Given the description of an element on the screen output the (x, y) to click on. 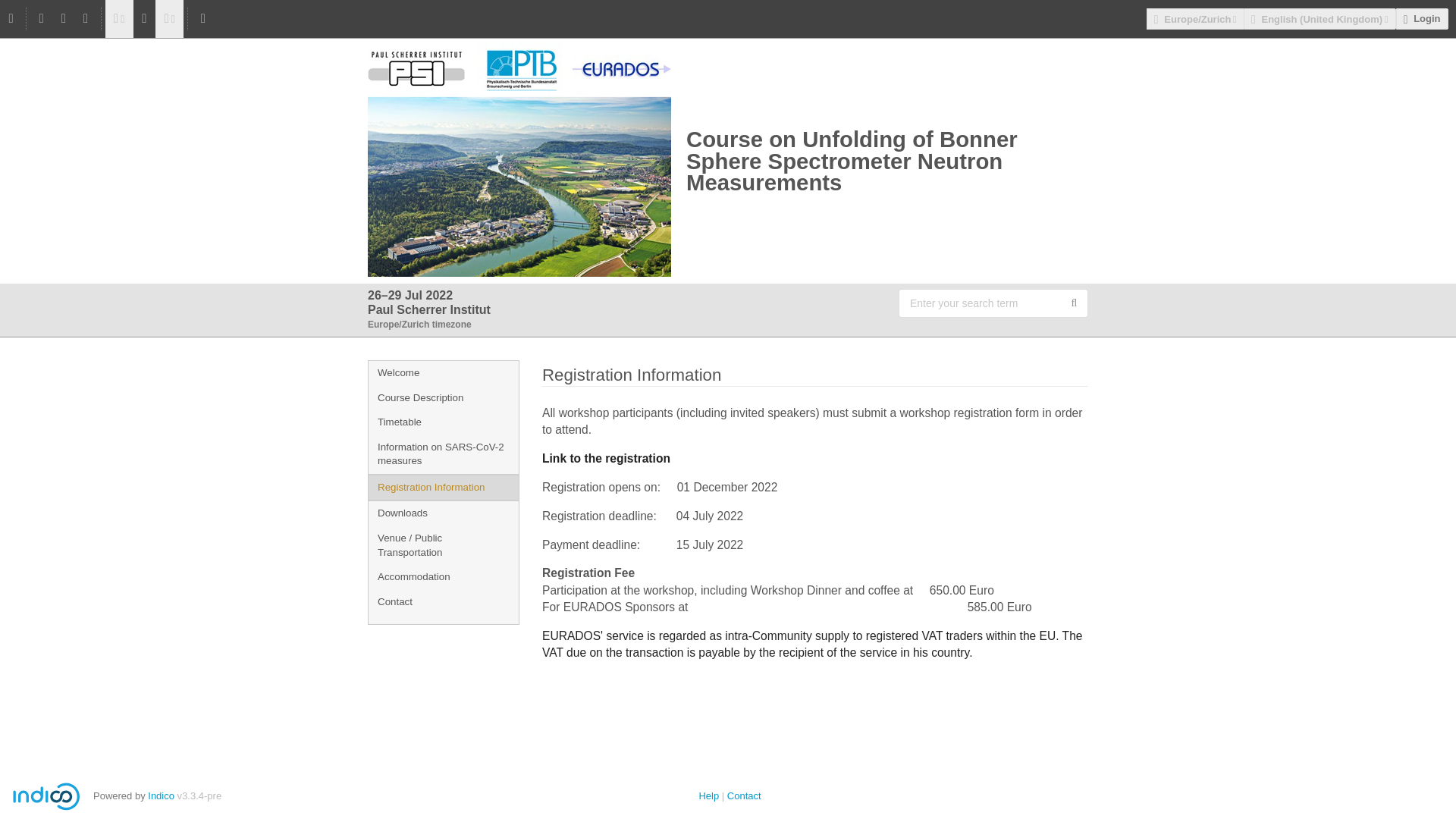
Downloads (443, 513)
Accommodation (443, 577)
Login (1422, 19)
Registration Information (443, 488)
Welcome (443, 373)
Course Description (443, 398)
Timetable (443, 422)
Information on SARS-CoV-2 measures (443, 454)
